Given the description of an element on the screen output the (x, y) to click on. 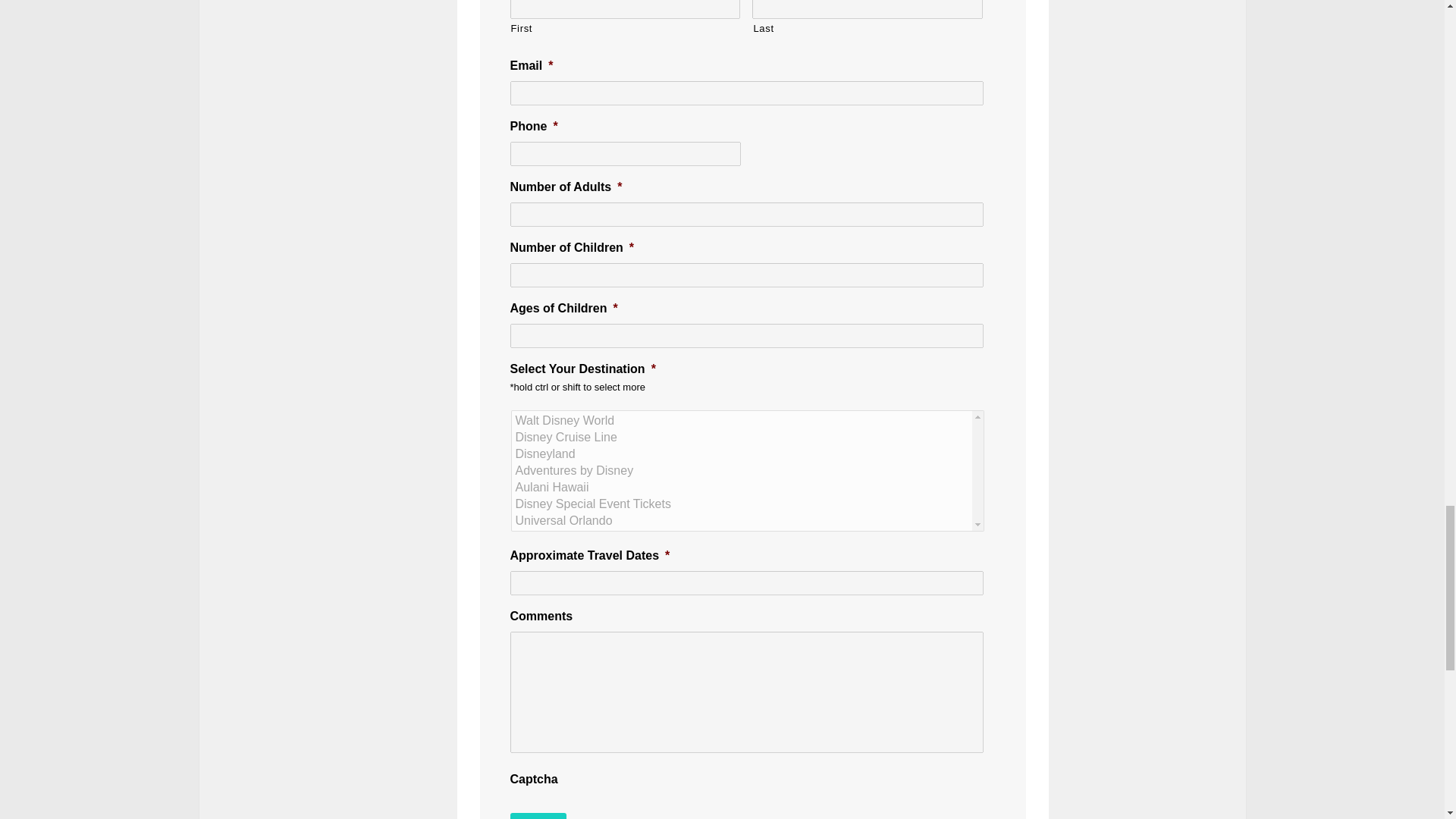
Submit (537, 816)
